Given the description of an element on the screen output the (x, y) to click on. 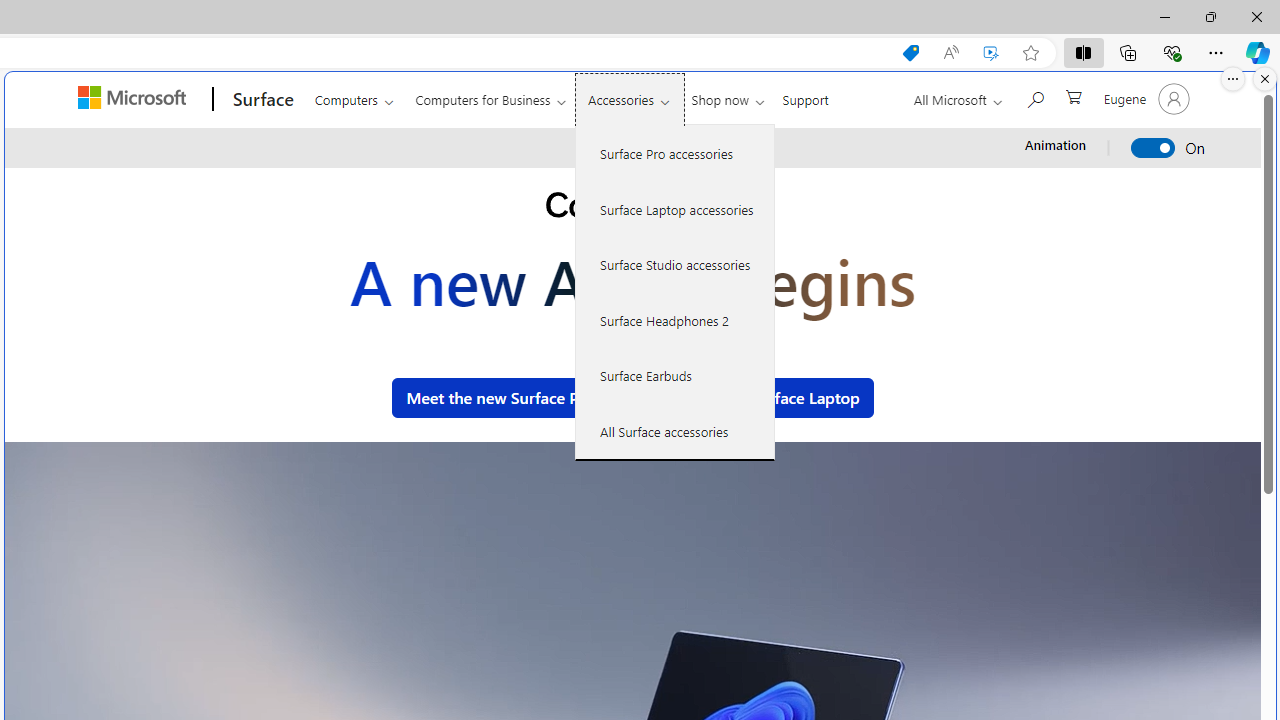
Surface Headphones 2 (675, 319)
Surface Earbuds (675, 375)
All Surface accessories (675, 431)
Meet the new Surface Pro (499, 397)
Enhance video (991, 53)
Surface Pro accessories (675, 153)
Surface Studio accessories (675, 264)
All Surface accessories (675, 431)
Surface (260, 99)
Surface Earbuds (675, 375)
